Given the description of an element on the screen output the (x, y) to click on. 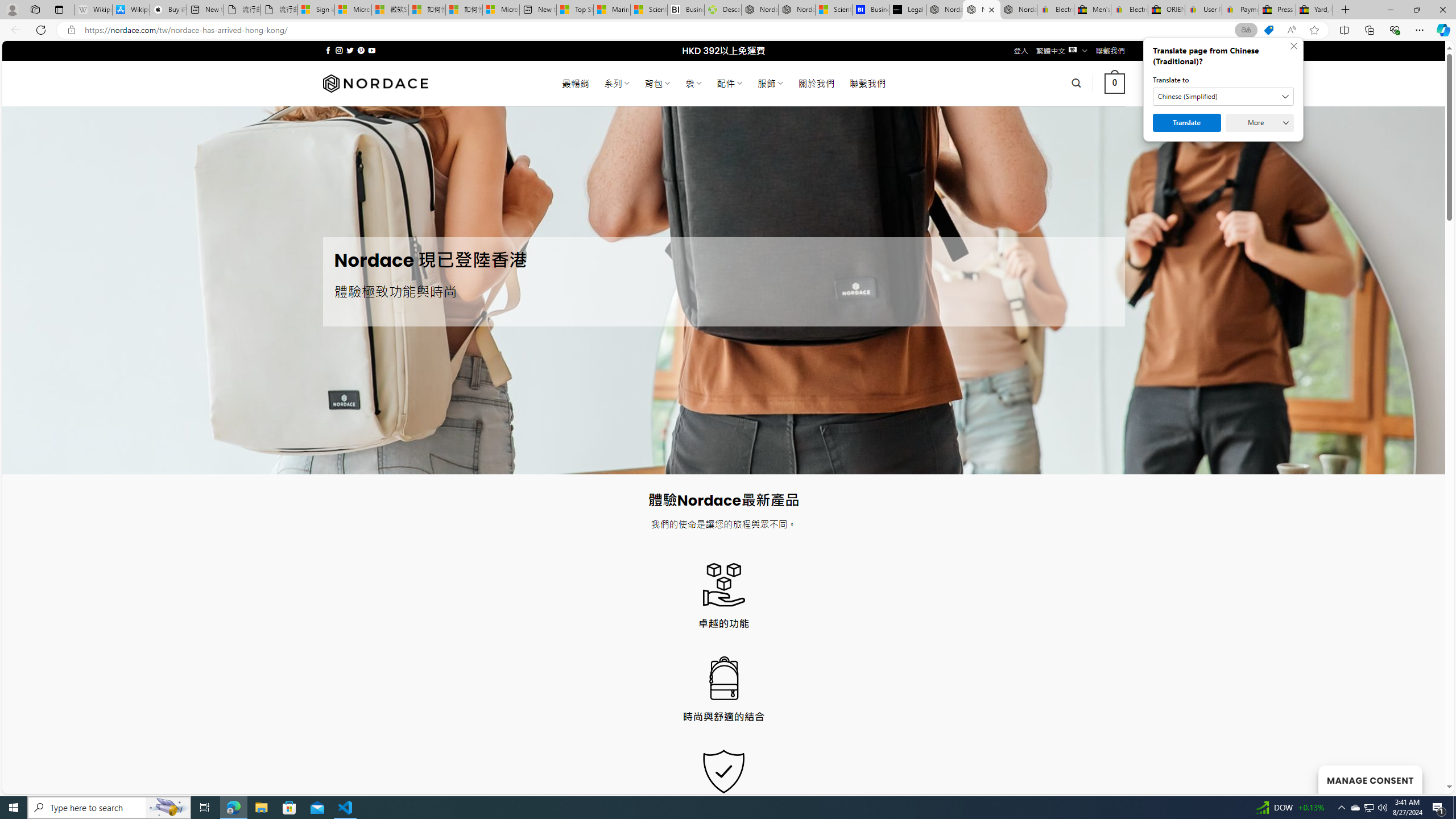
Follow on Twitter (349, 50)
